Given the description of an element on the screen output the (x, y) to click on. 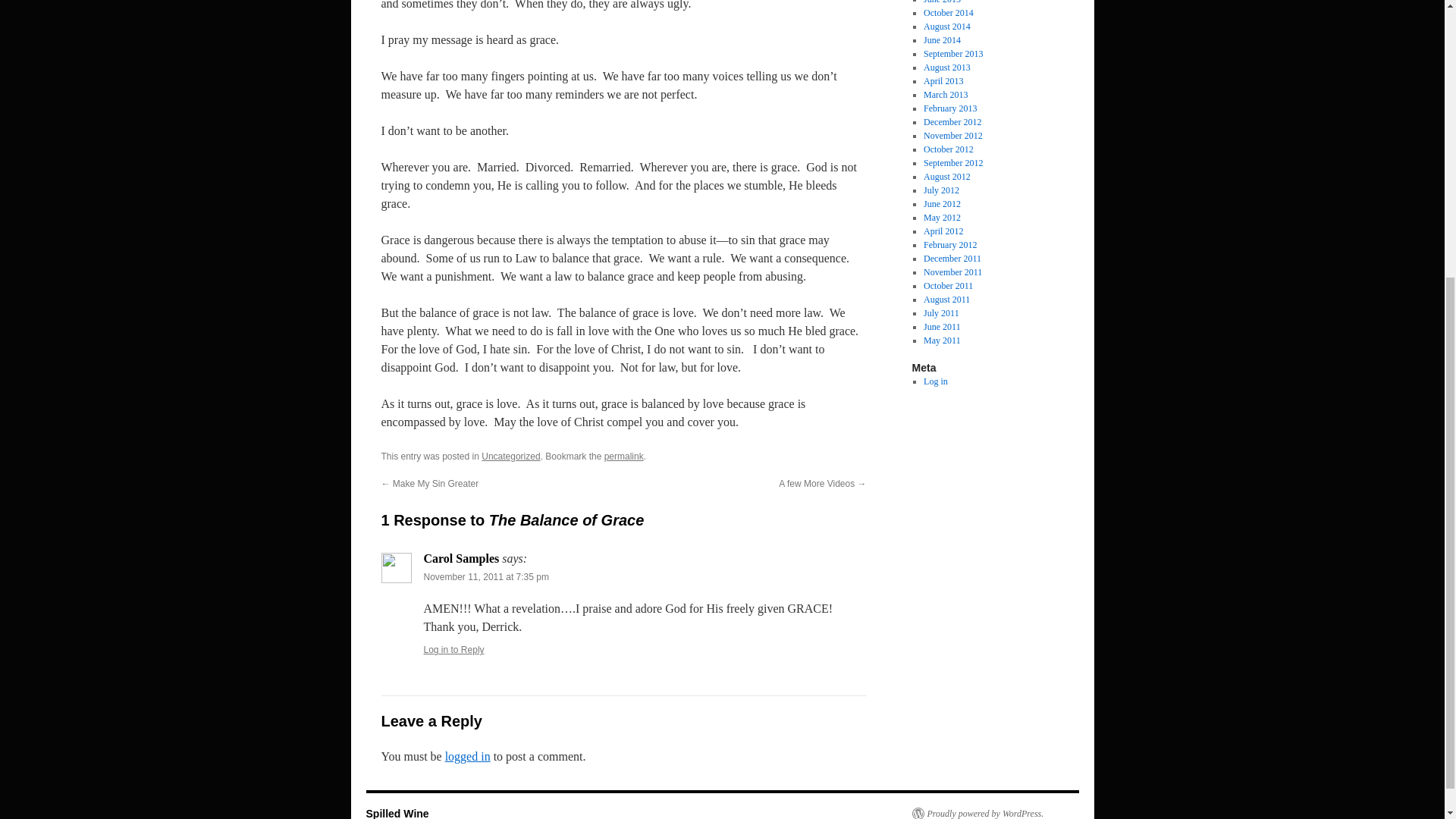
July 2012 (941, 190)
December 2012 (952, 122)
August 2012 (947, 176)
November 2012 (952, 135)
Permalink to The Balance of Grace (623, 456)
permalink (623, 456)
November 11, 2011 at 7:35 pm (485, 576)
logged in (467, 756)
August 2014 (947, 26)
August 2013 (947, 67)
